Given the description of an element on the screen output the (x, y) to click on. 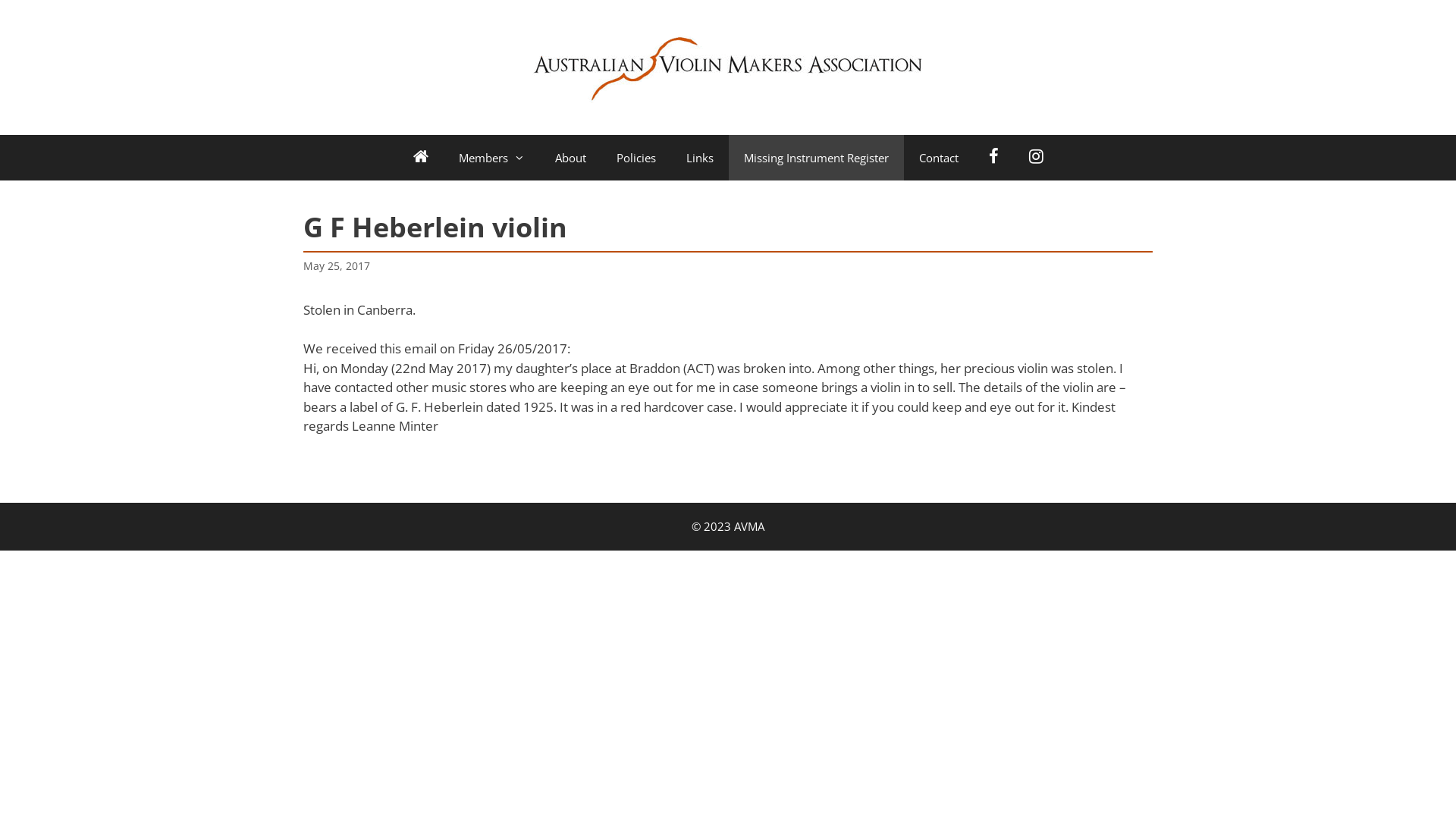
Missing Instrument Register Element type: text (815, 157)
Policies Element type: text (635, 157)
May 25, 2017 Element type: text (336, 265)
About Element type: text (570, 157)
Contact Element type: text (938, 157)
AVMA Element type: hover (727, 66)
Members Element type: text (490, 157)
AVMA Element type: hover (727, 67)
Links Element type: text (699, 157)
